Given the description of an element on the screen output the (x, y) to click on. 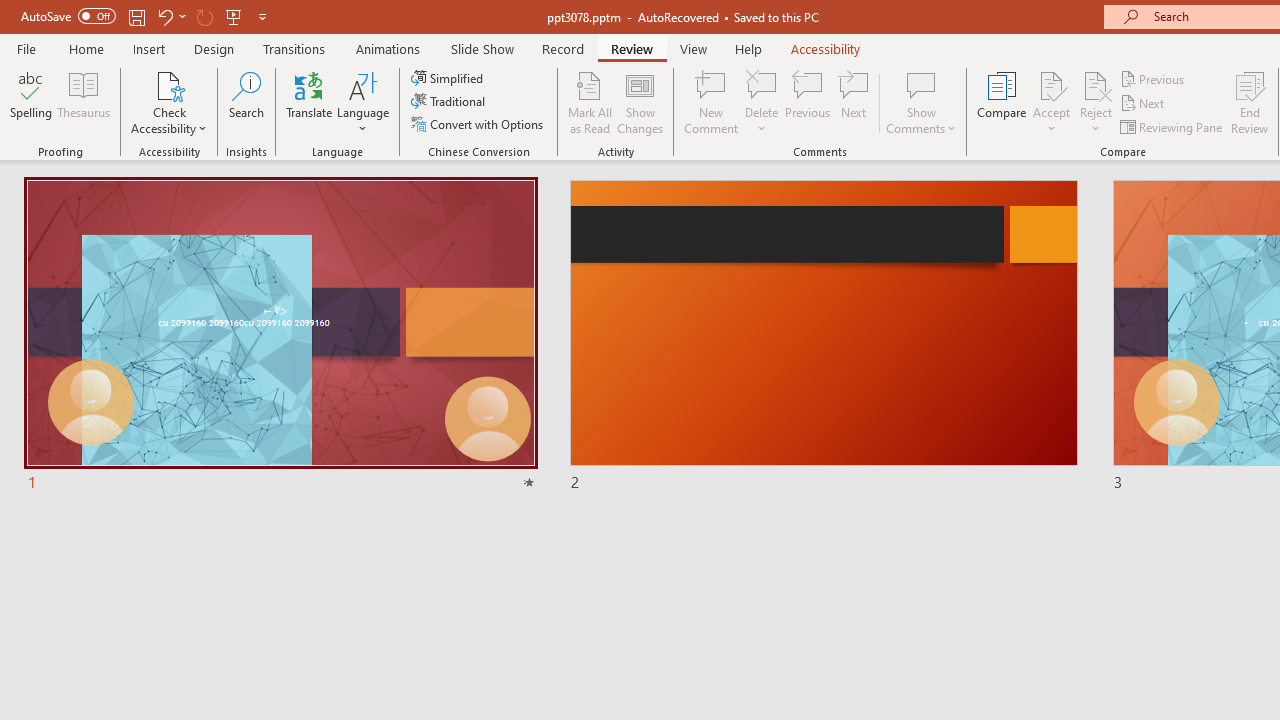
Next (1144, 103)
Accept Change (1051, 84)
Show Comments (921, 102)
Reject (1096, 102)
Show Changes (639, 102)
Delete (762, 84)
Translate (309, 102)
Simplified (449, 78)
